Given the description of an element on the screen output the (x, y) to click on. 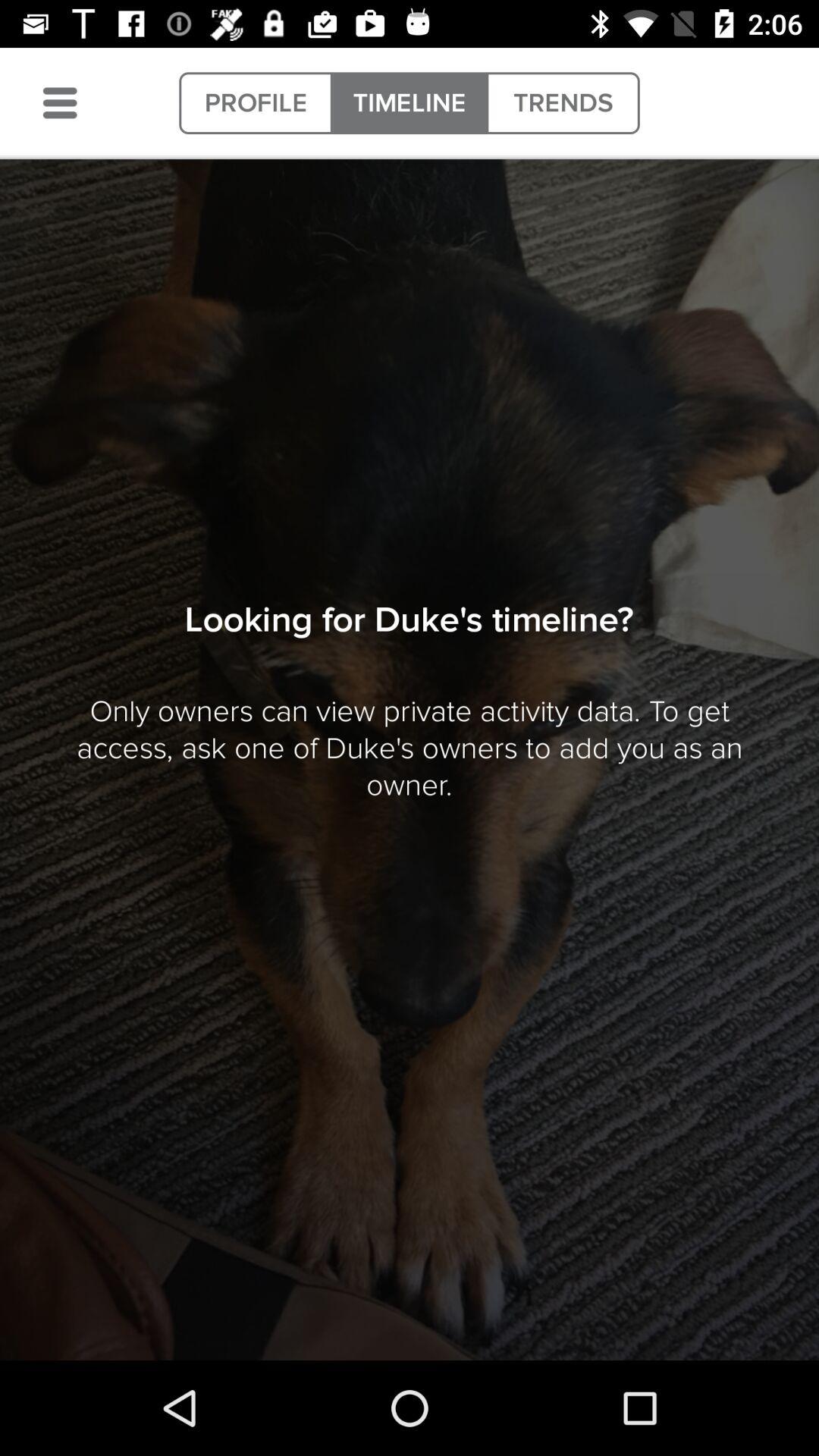
turn on the item to the right of the timeline item (562, 103)
